Given the description of an element on the screen output the (x, y) to click on. 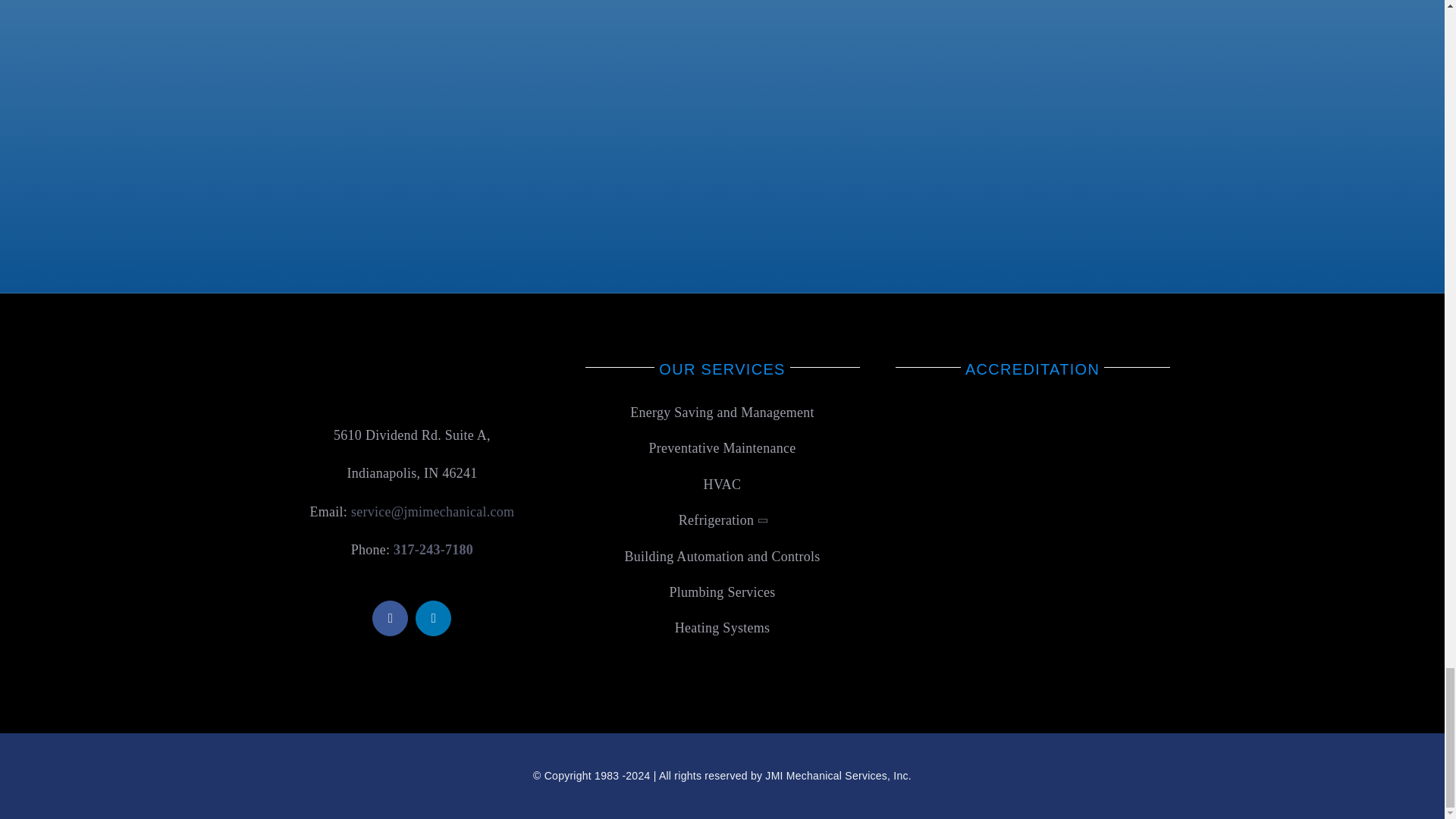
Circulating Pumps 2 (1032, 611)
logo-JMIMECHANICAL-small (411, 379)
Plumbing Services (722, 591)
plumbers-440-flag-local-indianapolis (898, 122)
Facebook (389, 618)
LinkedIn (432, 618)
Circulating Pumps 1 (1032, 465)
